Given the description of an element on the screen output the (x, y) to click on. 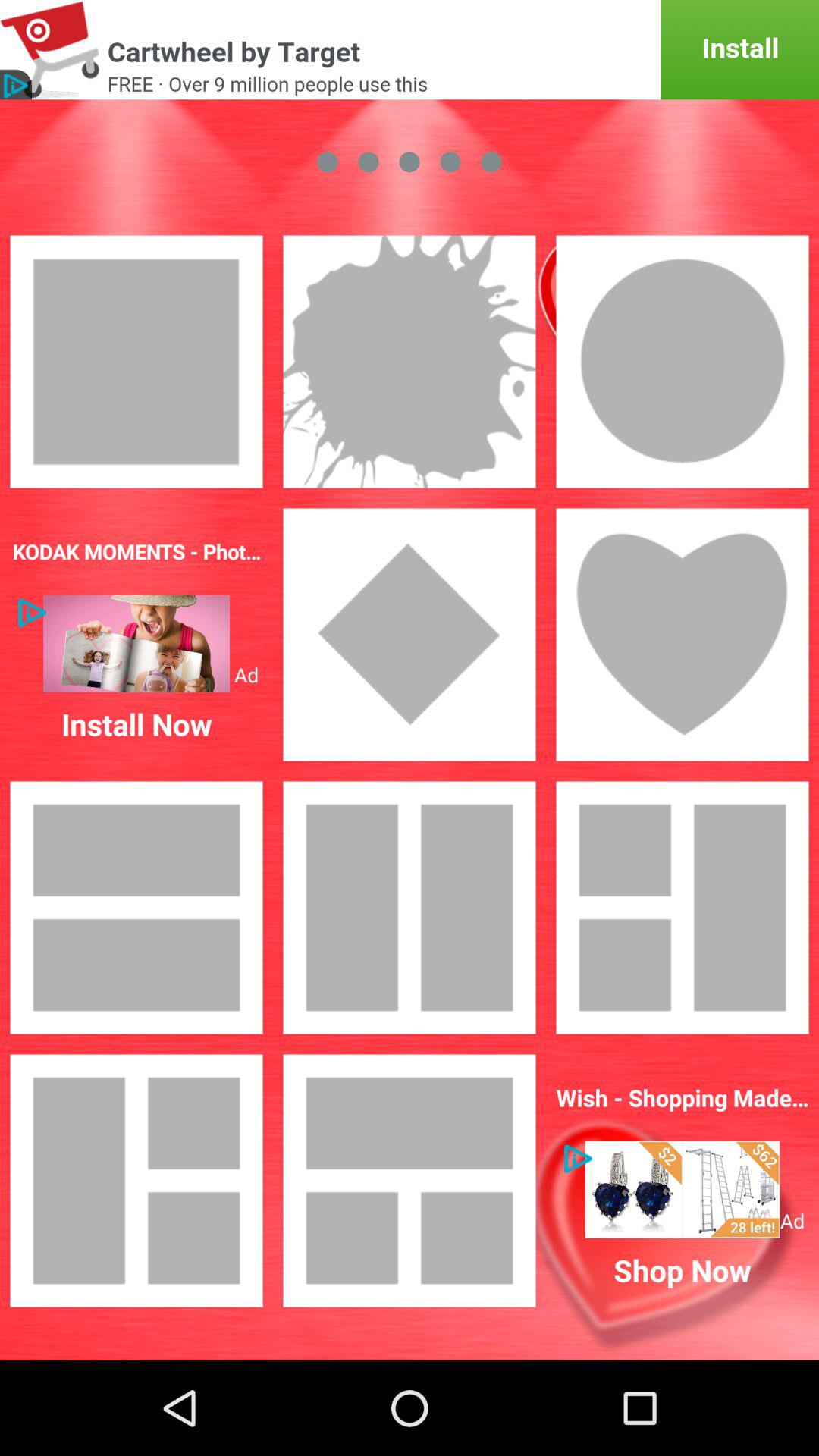
click image (682, 907)
